Given the description of an element on the screen output the (x, y) to click on. 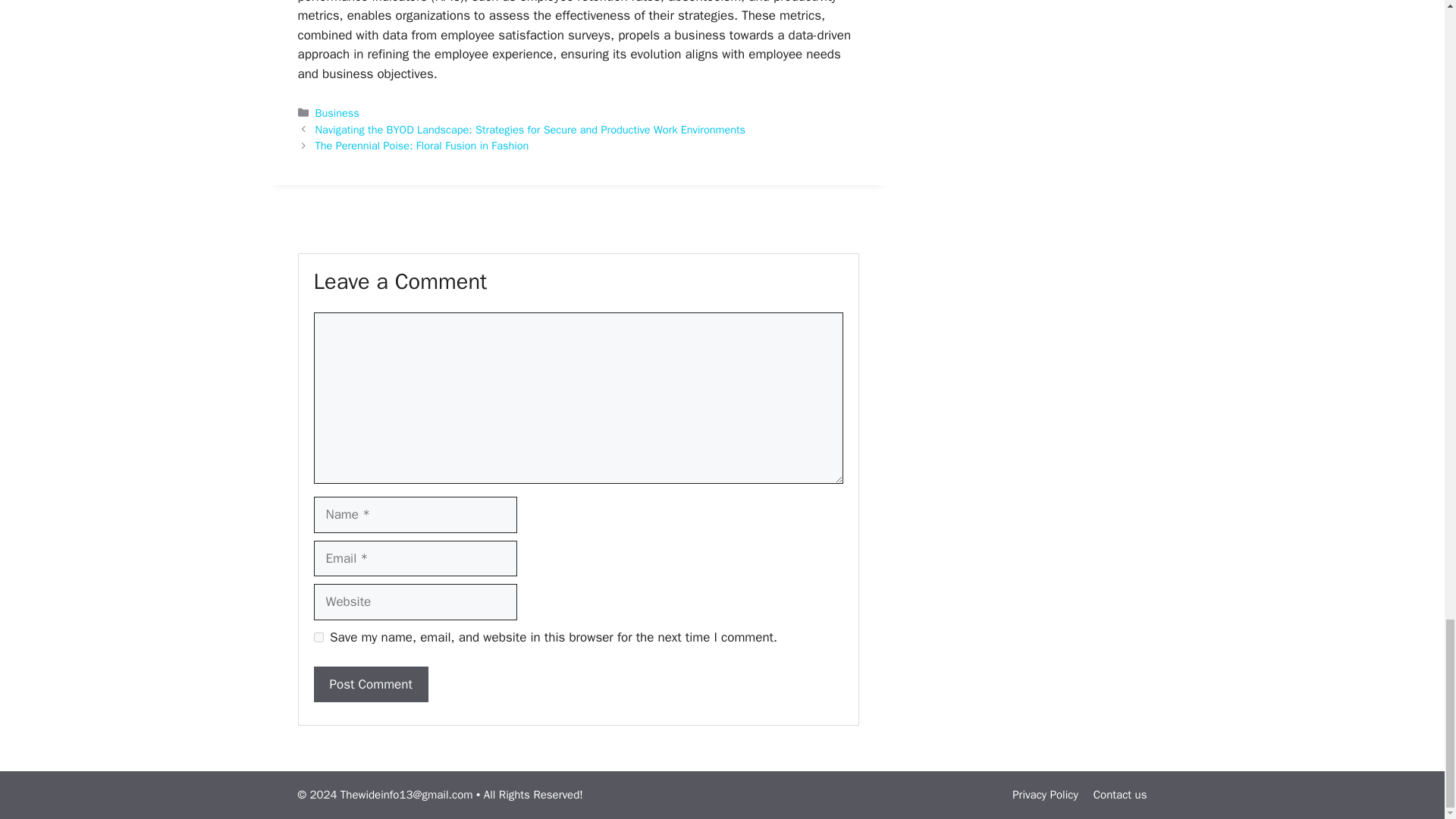
The Perennial Poise: Floral Fusion in Fashion (422, 145)
Business (337, 112)
Privacy Policy (1044, 794)
Contact us (1120, 794)
Post Comment (371, 684)
yes (318, 637)
Post Comment (371, 684)
